Given the description of an element on the screen output the (x, y) to click on. 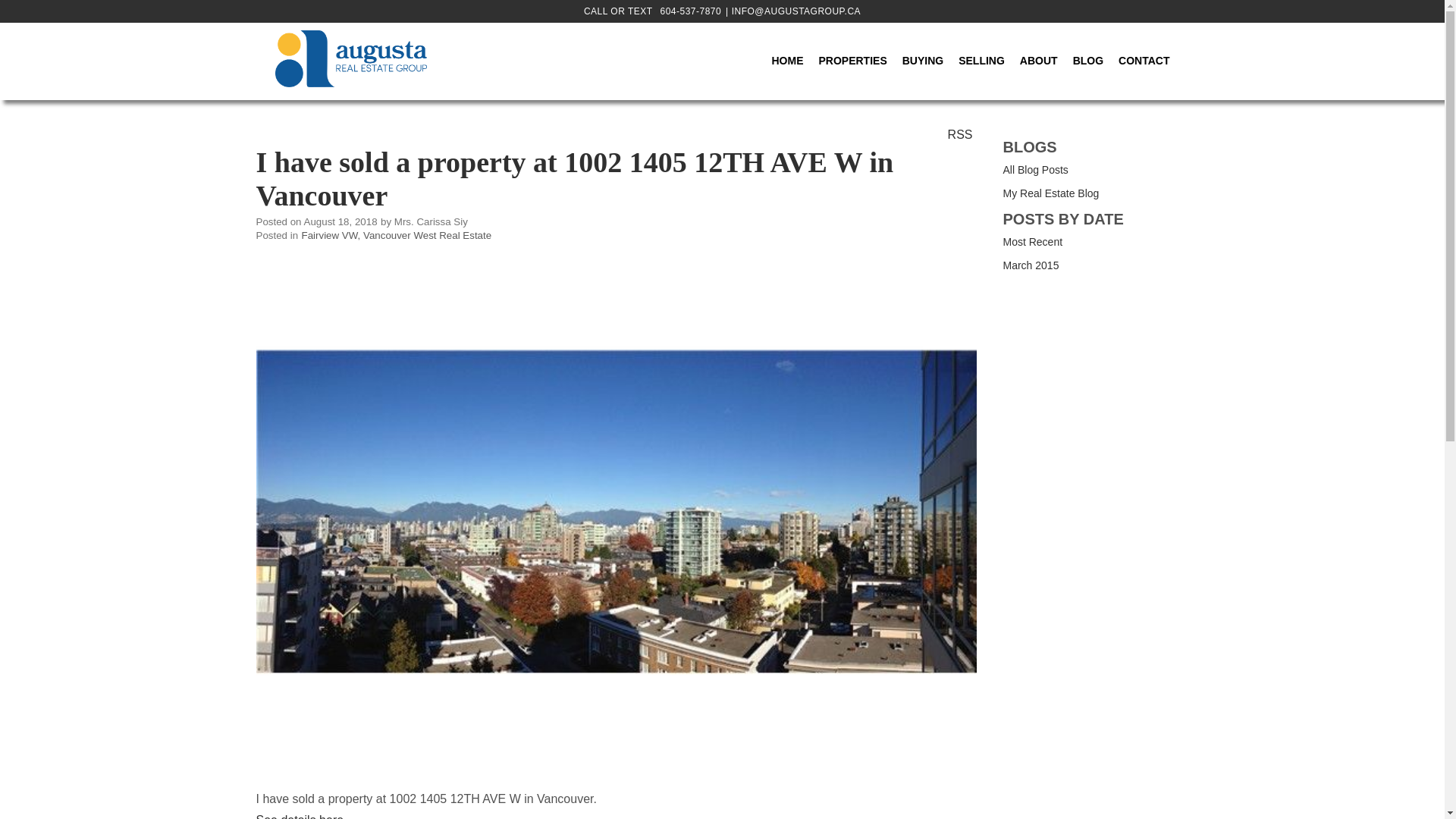
604-537-7870 (689, 10)
Most Recent (1032, 241)
My Real Estate Blog (1051, 193)
SELLING (980, 60)
March 2015 (1030, 265)
ABOUT (1038, 60)
PROPERTIES (851, 60)
BUYING (922, 60)
HOME (786, 60)
CONTACT (1143, 60)
All Blog Posts (1035, 169)
RSS (959, 133)
BLOG (1087, 60)
See details here (299, 816)
Fairview VW, Vancouver West Real Estate (396, 235)
